Given the description of an element on the screen output the (x, y) to click on. 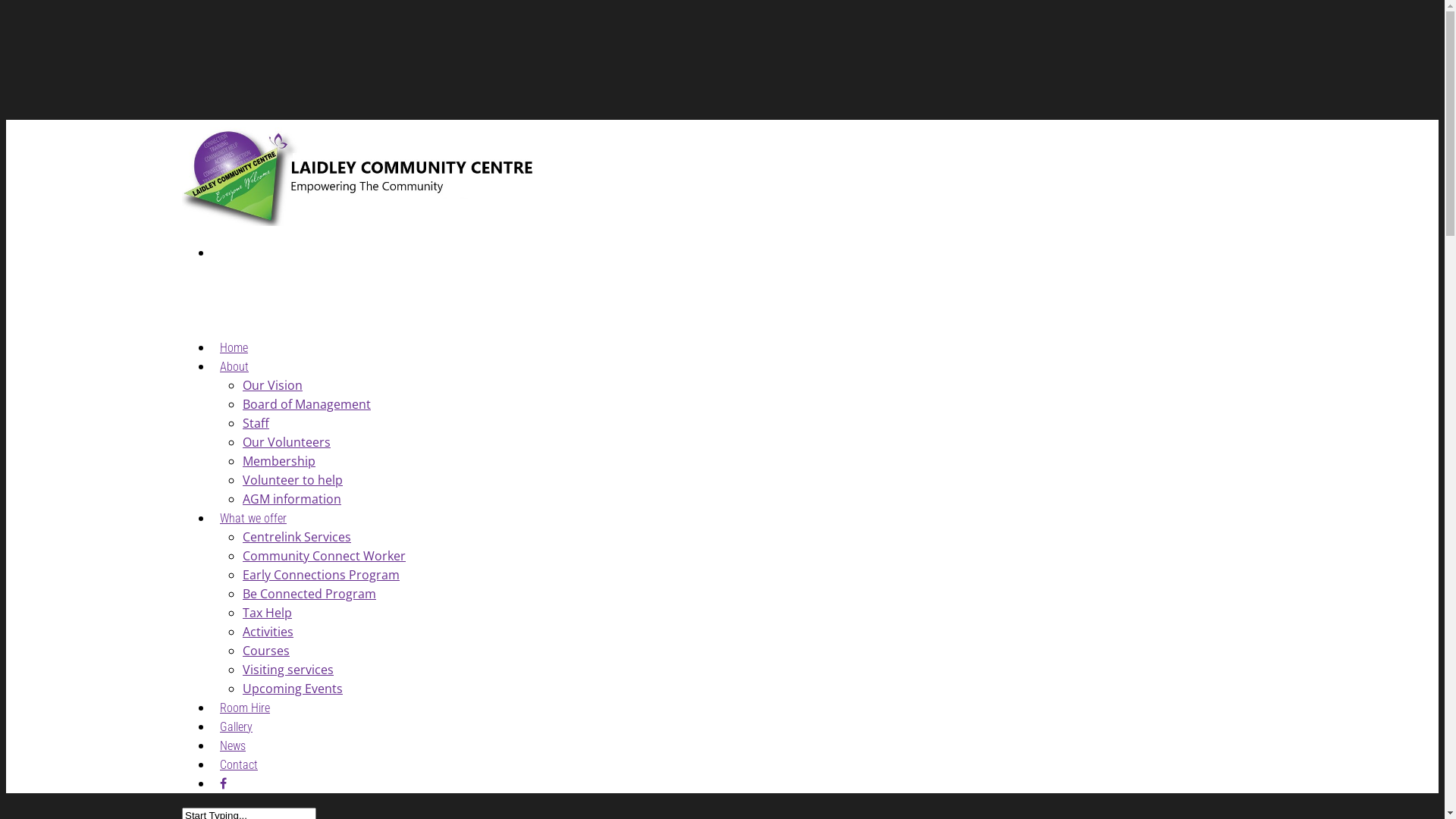
Centrelink Services Element type: text (296, 536)
Board of Management Element type: text (306, 403)
Activities Element type: text (267, 631)
Our Vision Element type: text (272, 384)
Courses Element type: text (265, 650)
Tax Help Element type: text (266, 612)
Our Volunteers Element type: text (286, 441)
Staff Element type: text (255, 422)
Volunteer to help Element type: text (292, 479)
Upcoming Events Element type: text (292, 688)
What we offer Element type: text (253, 522)
Visiting services Element type: text (287, 669)
Early Connections Program Element type: text (320, 574)
About Element type: text (234, 370)
Room Hire Element type: text (244, 711)
AGM information Element type: text (291, 498)
Be Connected Program Element type: text (309, 593)
Gallery Element type: text (236, 730)
Home Element type: text (233, 351)
News Element type: text (232, 749)
Membership Element type: text (278, 460)
Community Connect Worker Element type: text (323, 555)
